Given the description of an element on the screen output the (x, y) to click on. 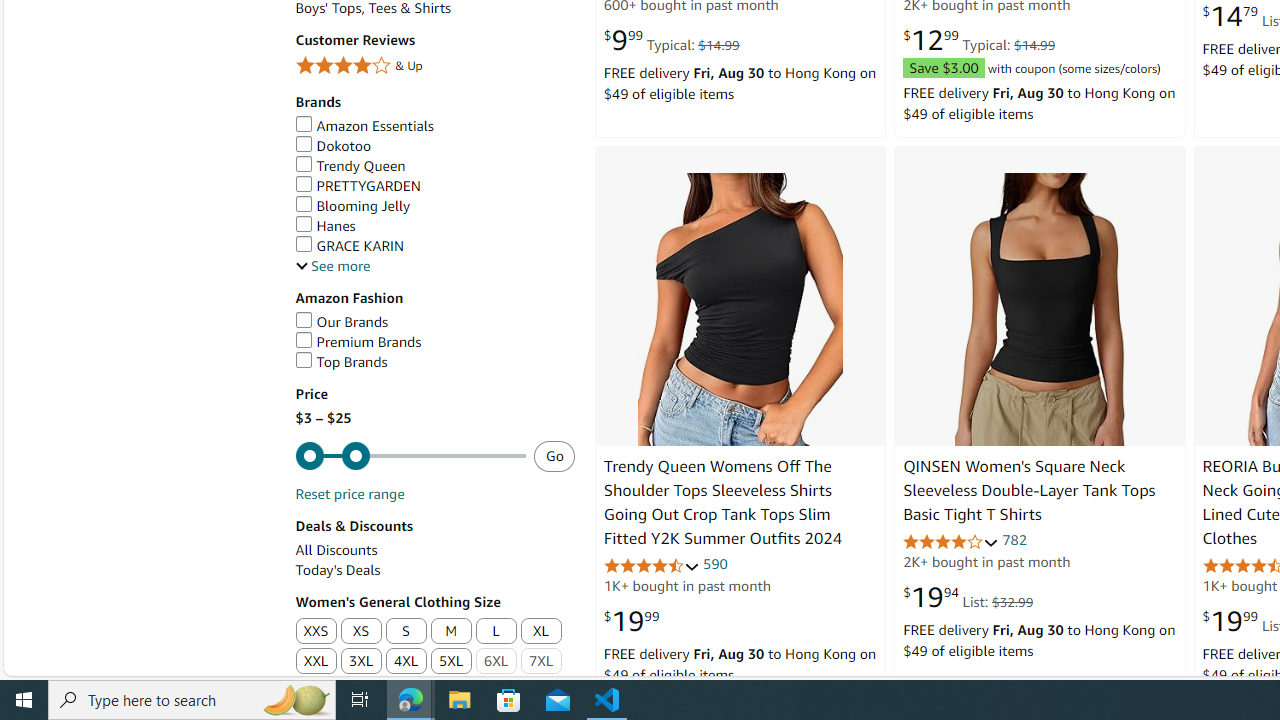
See more, Brands (332, 266)
Top Brands (434, 362)
XL (540, 631)
590 (715, 563)
4.3 out of 5 stars (651, 565)
Maximum (410, 456)
XL (541, 632)
Today's Deals (337, 570)
6XL (495, 662)
S (406, 632)
$19.94 List: $32.99 (968, 596)
Skip to main search results (88, 666)
Dokotoo (434, 146)
